Given the description of an element on the screen output the (x, y) to click on. 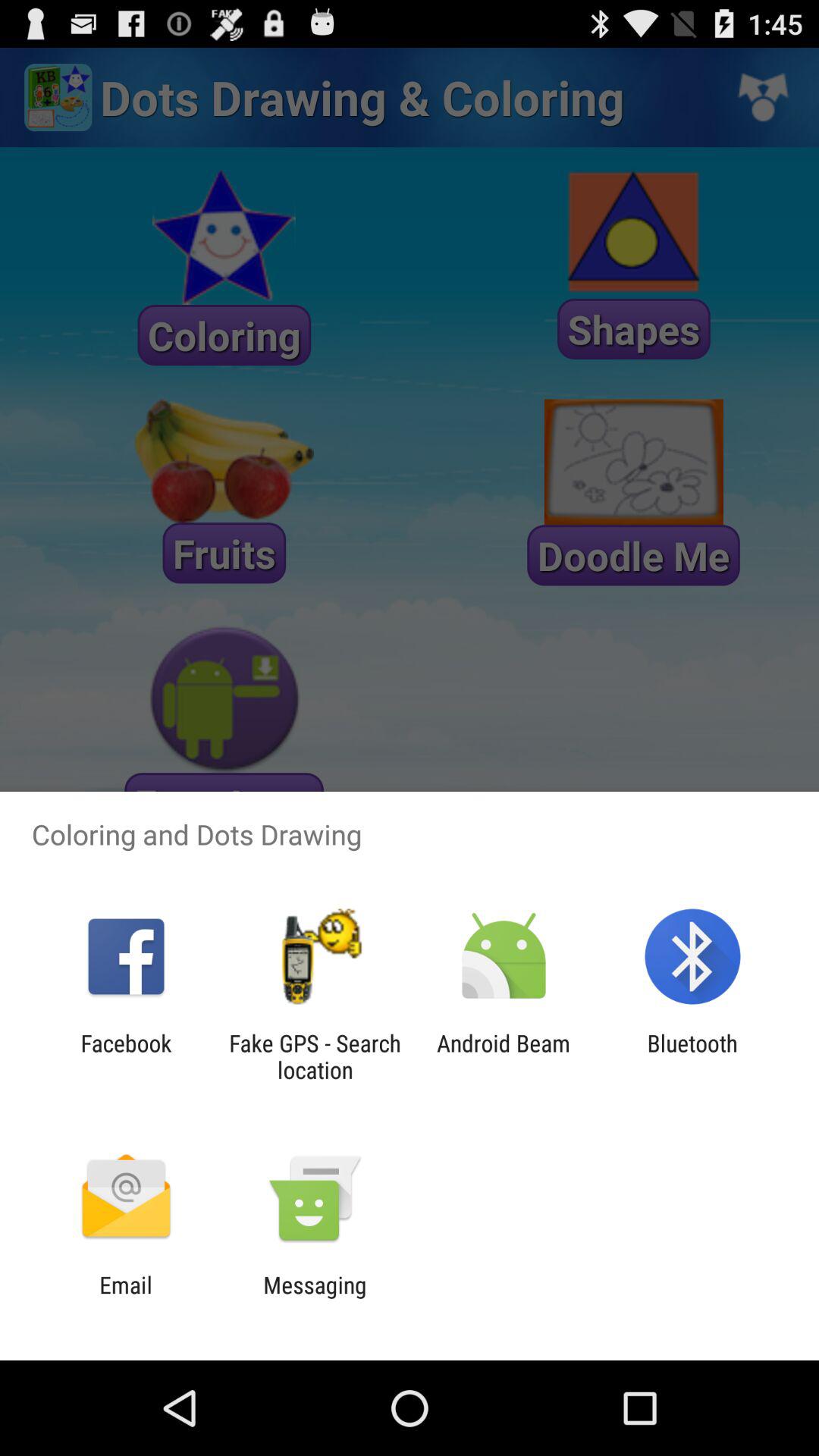
jump until email item (125, 1298)
